Given the description of an element on the screen output the (x, y) to click on. 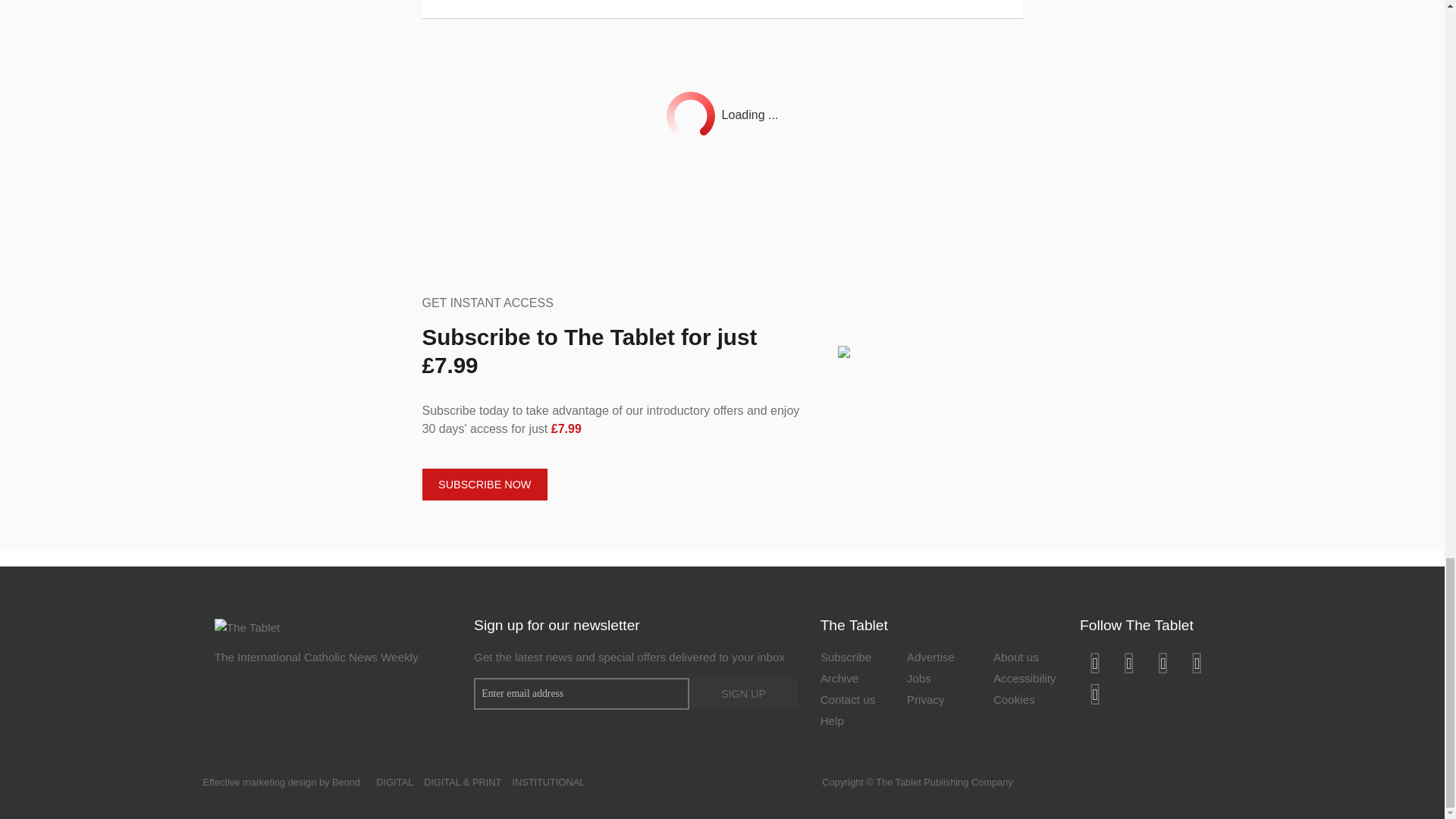
Subscribe (852, 658)
Archive (852, 680)
Cookies (1024, 701)
SIGN UP (742, 694)
About us (1024, 658)
The Tablet (247, 626)
Privacy (939, 701)
Subscribe (852, 658)
Jobs (939, 680)
Accessibility (1024, 680)
